Given the description of an element on the screen output the (x, y) to click on. 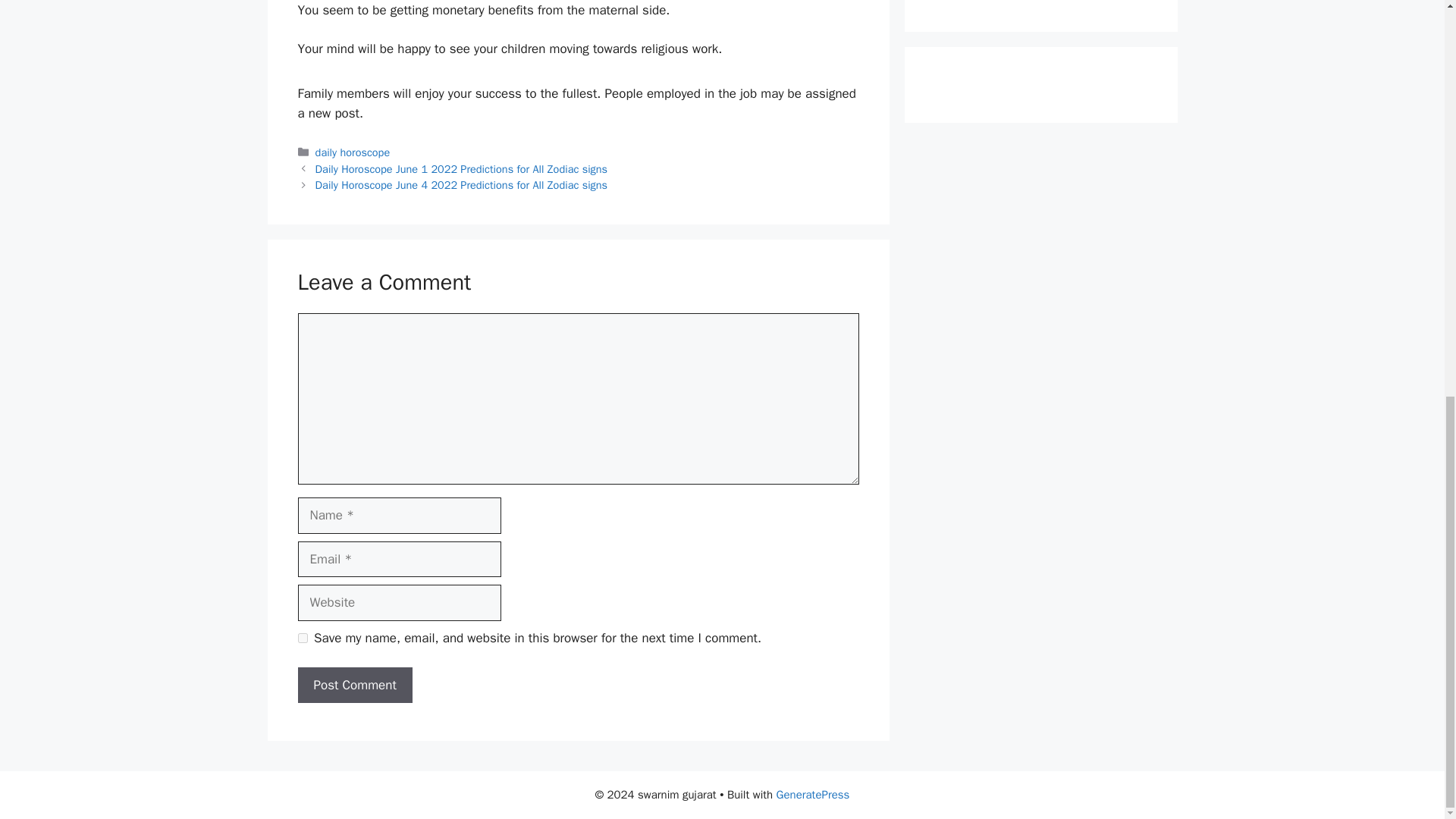
daily horoscope (352, 151)
Post Comment (354, 685)
Post Comment (354, 685)
GeneratePress (813, 794)
yes (302, 637)
Daily Horoscope June 4 2022 Predictions for All Zodiac signs (461, 184)
Daily Horoscope June 1 2022 Predictions for All Zodiac signs (461, 169)
